Given the description of an element on the screen output the (x, y) to click on. 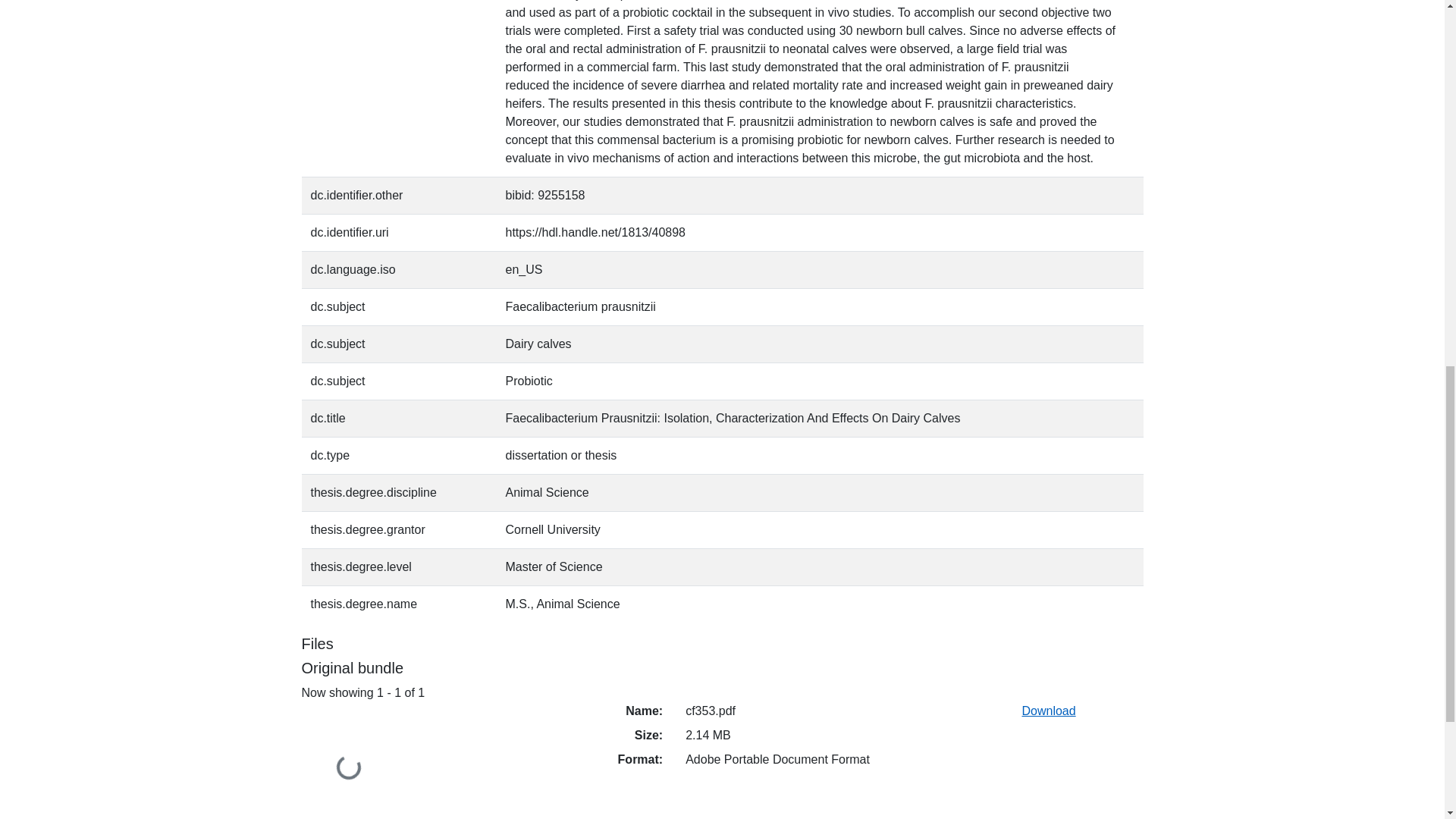
Download (1048, 710)
